Given the description of an element on the screen output the (x, y) to click on. 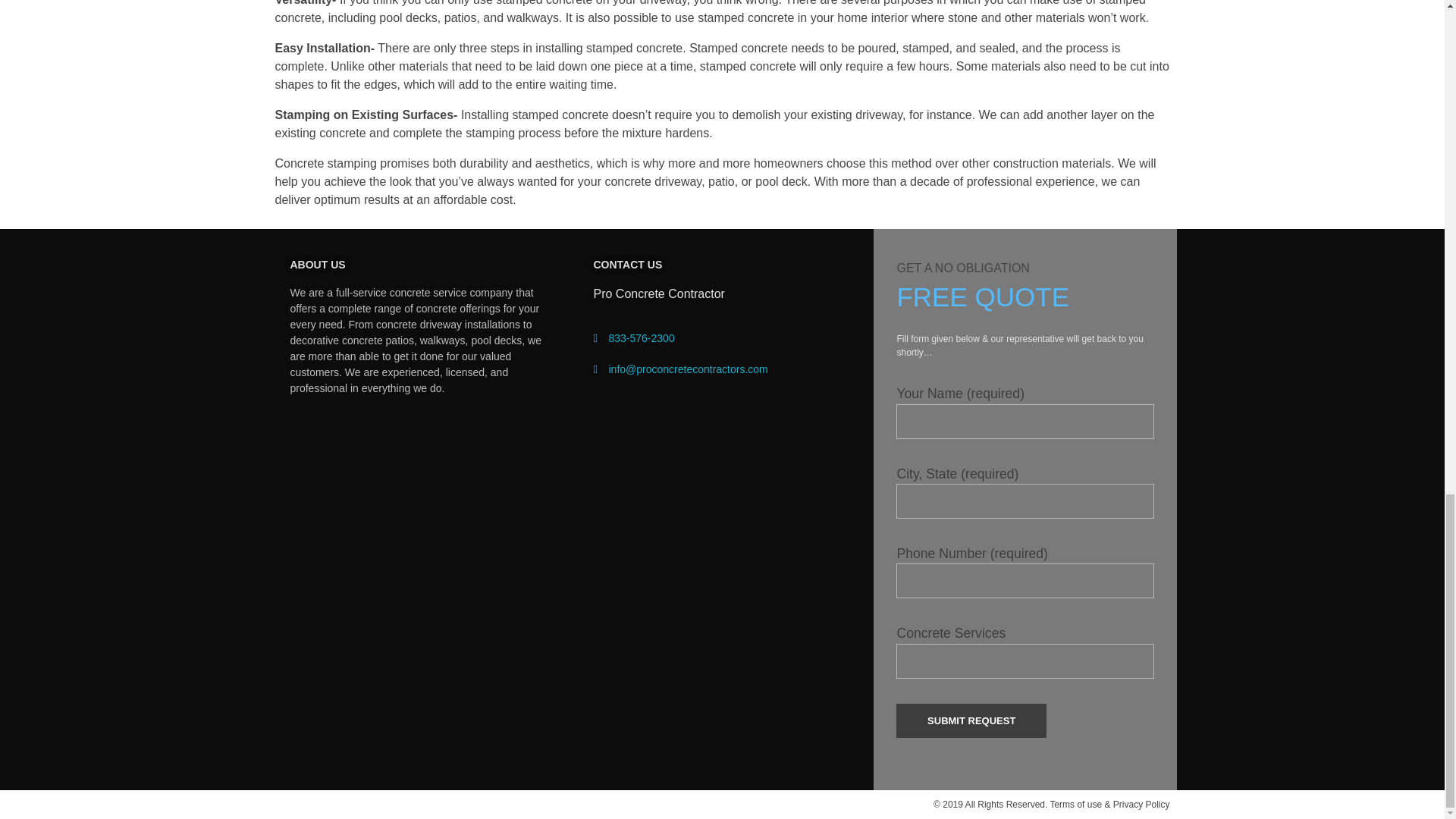
Submit Request (971, 720)
833-576-2300 (641, 337)
Submit Request (971, 720)
